Given the description of an element on the screen output the (x, y) to click on. 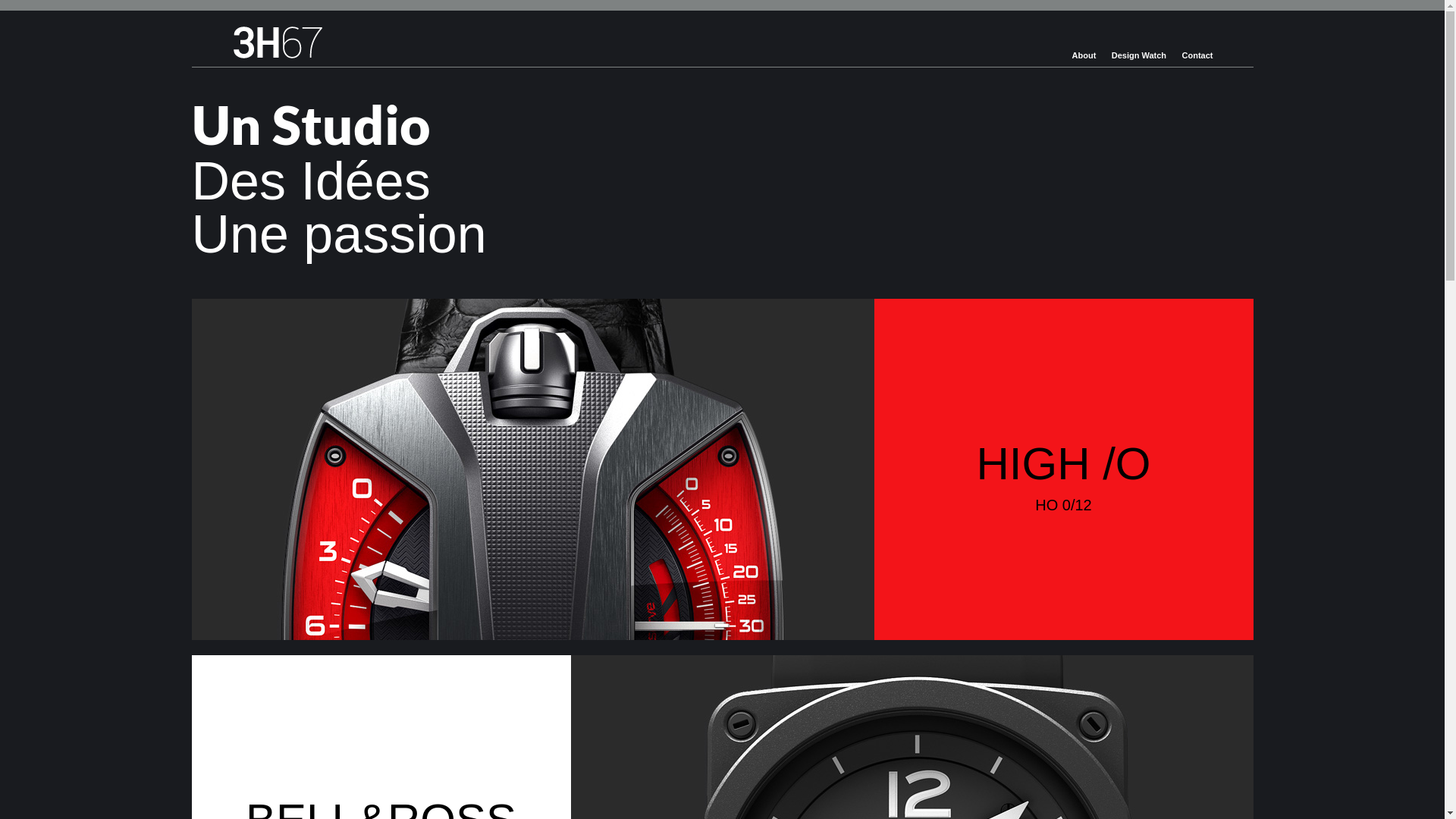
Contact Element type: text (1197, 55)
Design Watch Element type: text (1138, 55)
About Element type: text (1084, 55)
